Given the description of an element on the screen output the (x, y) to click on. 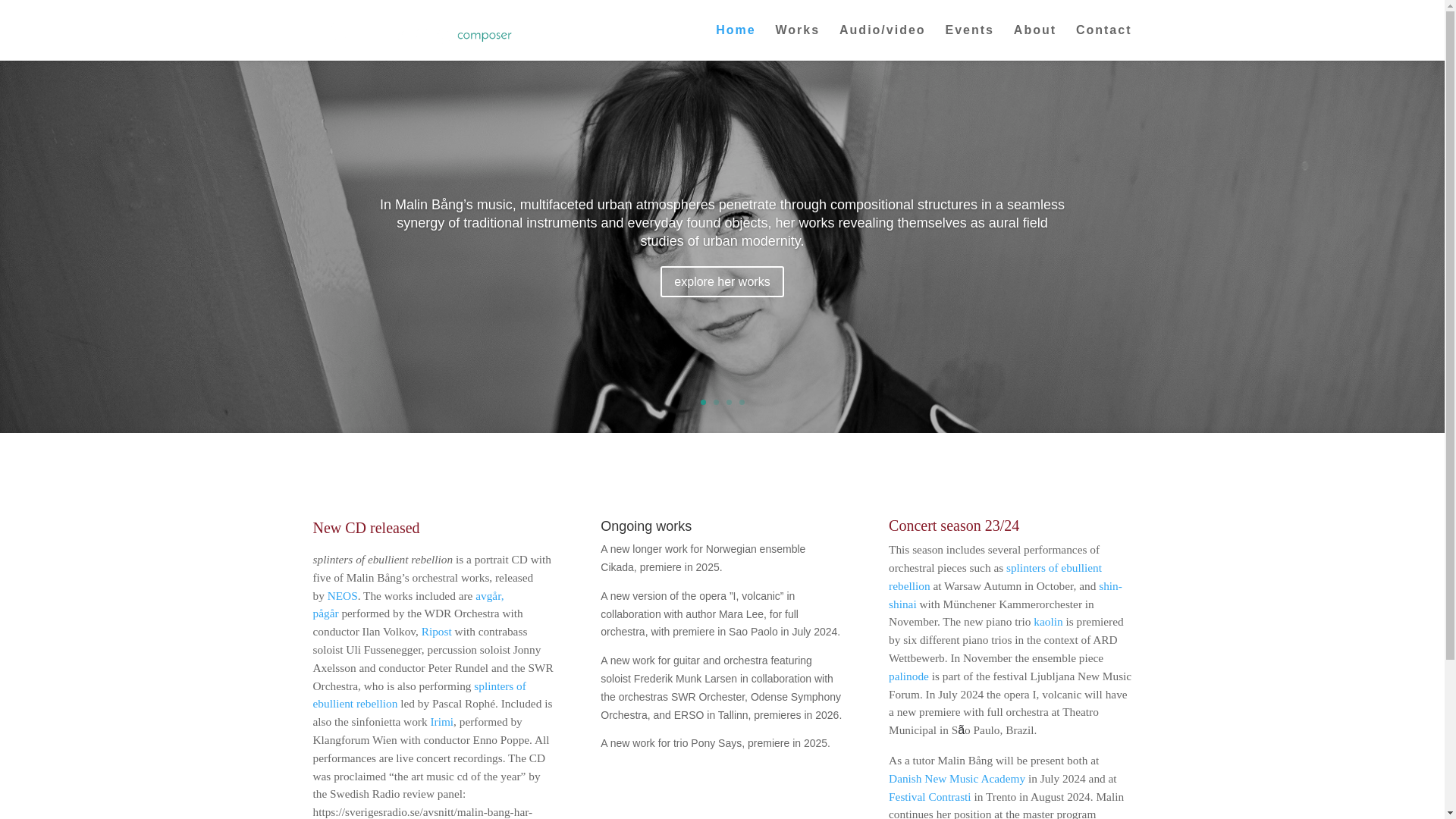
splinters of ebullient rebellion (995, 576)
Home (735, 42)
shin-shinai (1005, 594)
Festival Contrasti (929, 796)
splinters of ebullient rebellion (419, 694)
palinode (908, 675)
Ripost (436, 631)
Events (968, 42)
NEOS (342, 594)
Irimi (440, 721)
kaolin (1047, 621)
